Given the description of an element on the screen output the (x, y) to click on. 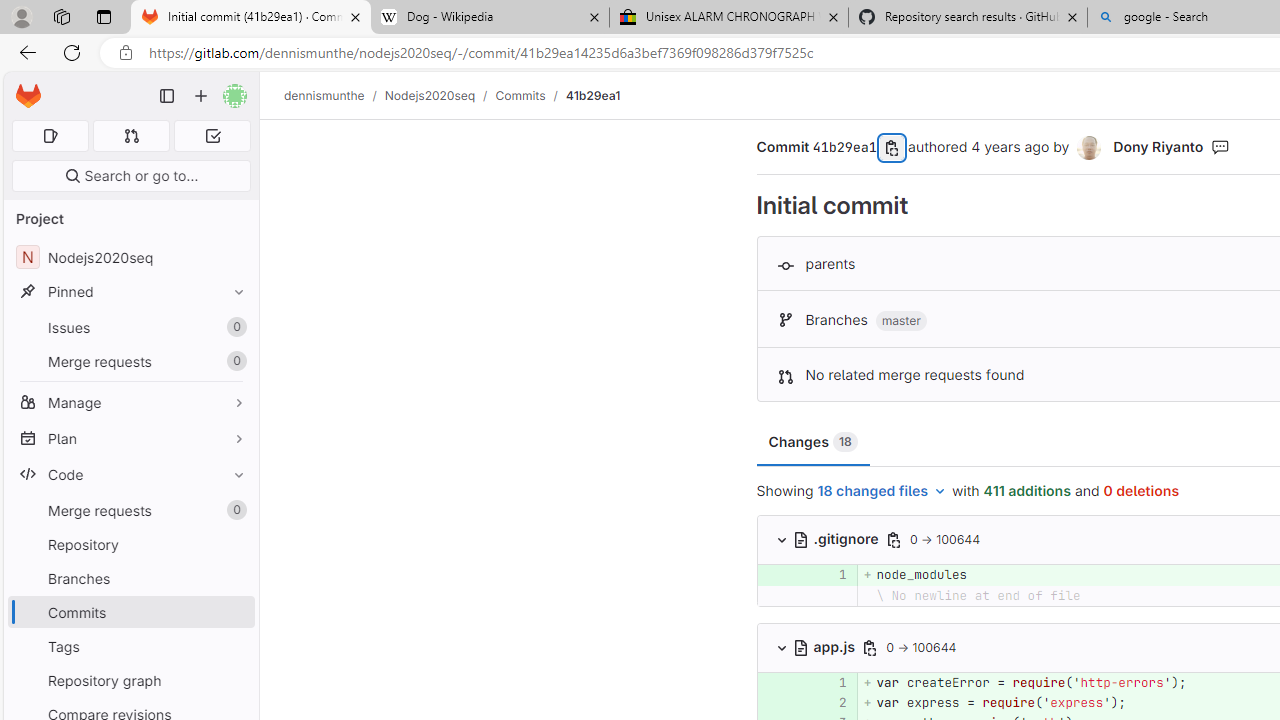
Add a comment to this line (757, 701)
1 (829, 681)
Pin Repository graph (234, 680)
Nodejs2020seq/ (440, 95)
Issues0 (130, 327)
Repository (130, 543)
master (900, 321)
Merge requests 0 (130, 510)
Commits/ (530, 95)
Class: s16 (801, 647)
Changes 18 (813, 442)
41b29ea1 (592, 95)
